Given the description of an element on the screen output the (x, y) to click on. 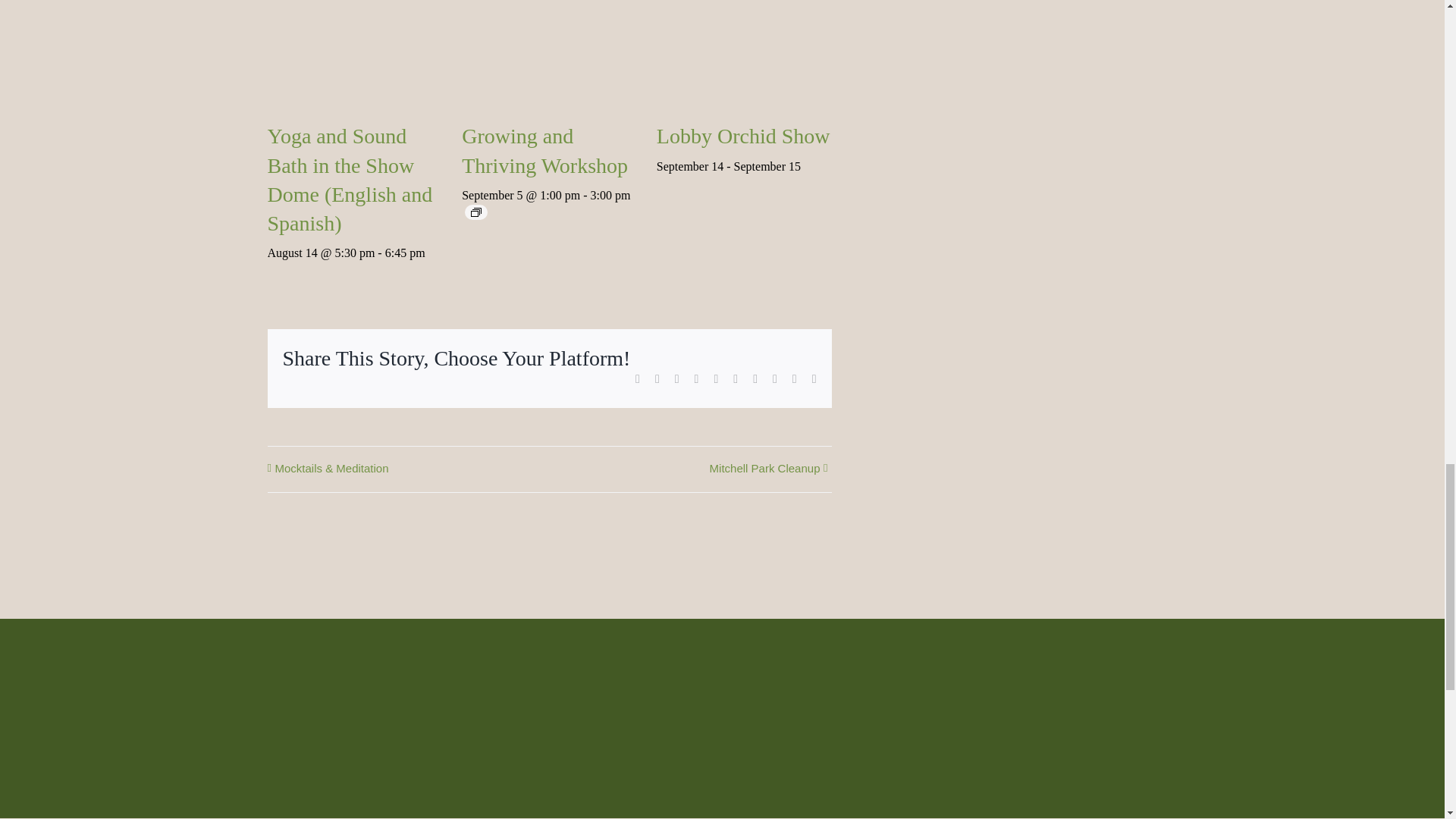
Pinterest (754, 378)
LinkedIn (696, 378)
X (657, 378)
WhatsApp (715, 378)
Tumblr (735, 378)
Event Series (475, 212)
Reddit (677, 378)
Vk (775, 378)
Facebook (637, 378)
